Given the description of an element on the screen output the (x, y) to click on. 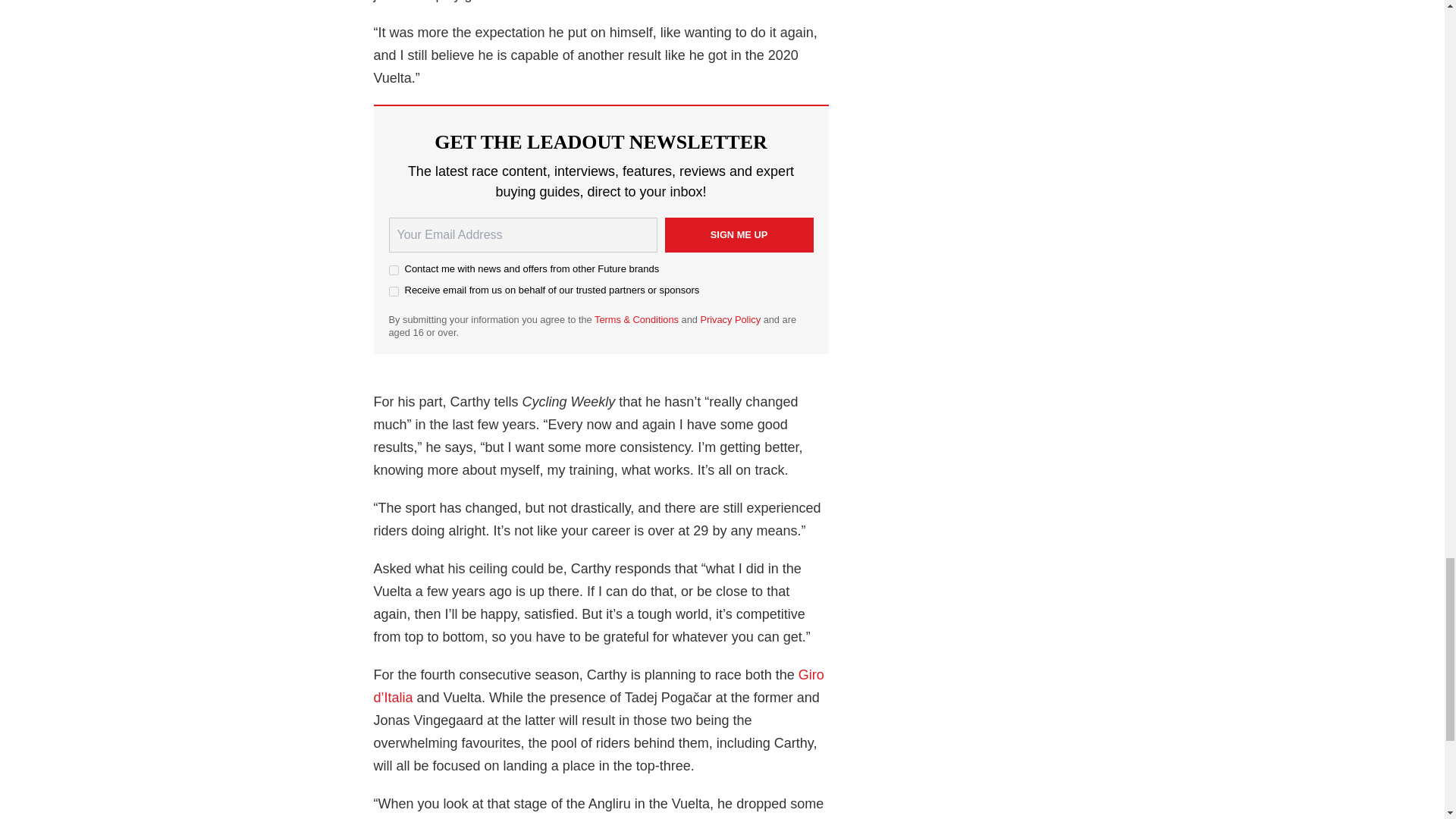
on (392, 291)
on (392, 270)
Sign me up (737, 234)
